Given the description of an element on the screen output the (x, y) to click on. 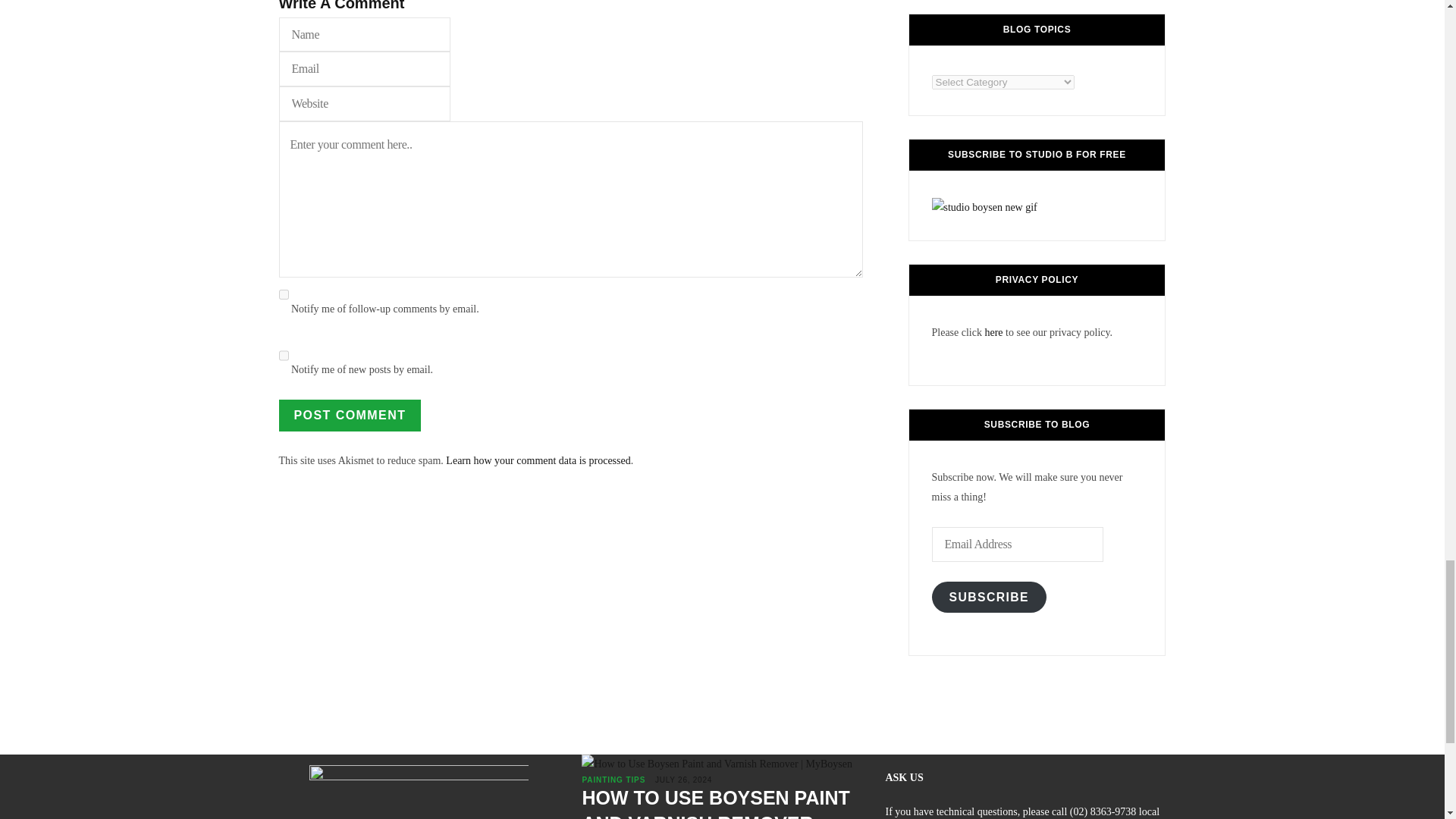
Post Comment (350, 415)
